Given the description of an element on the screen output the (x, y) to click on. 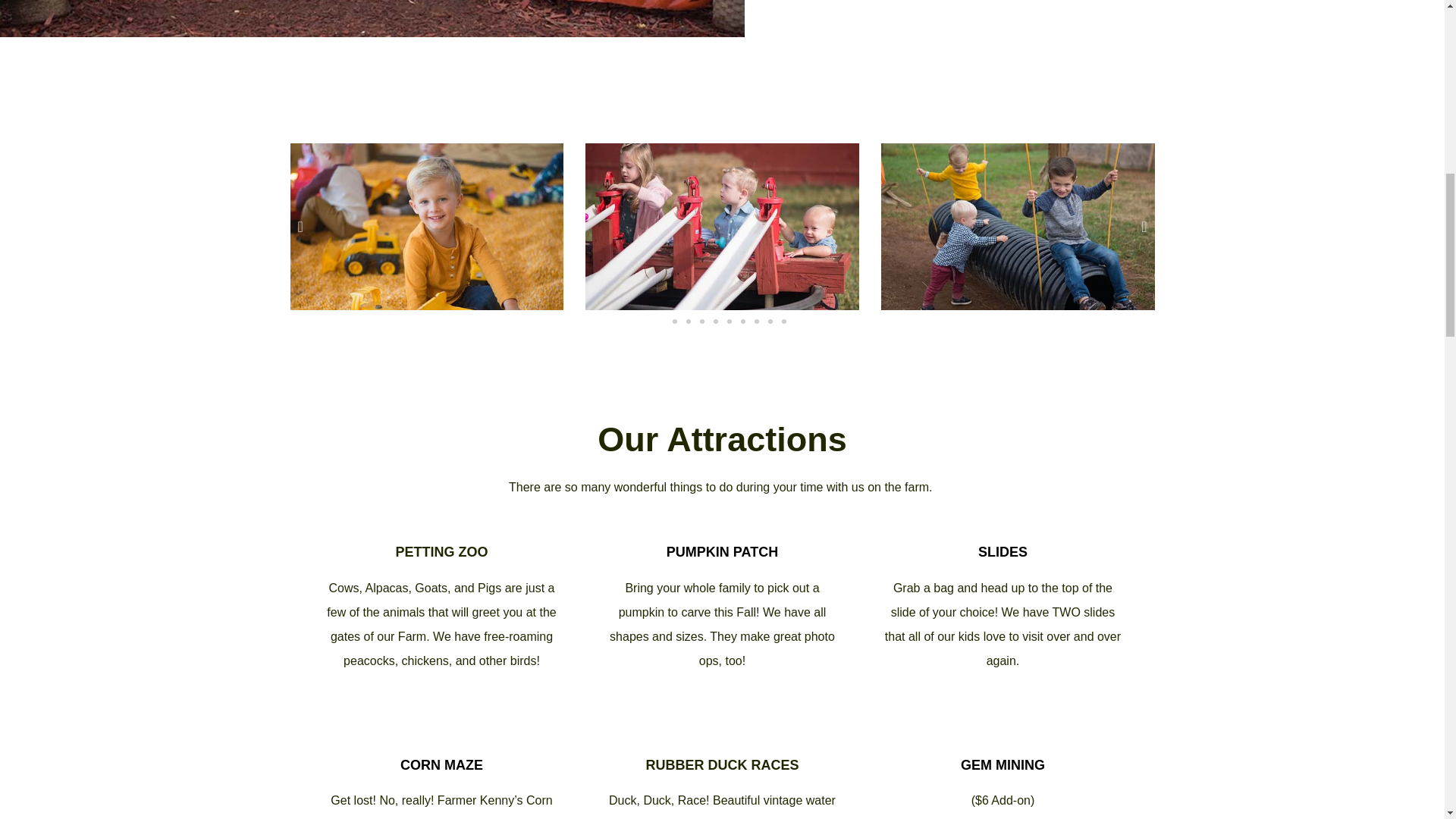
FareHarbor (1342, 64)
